Given the description of an element on the screen output the (x, y) to click on. 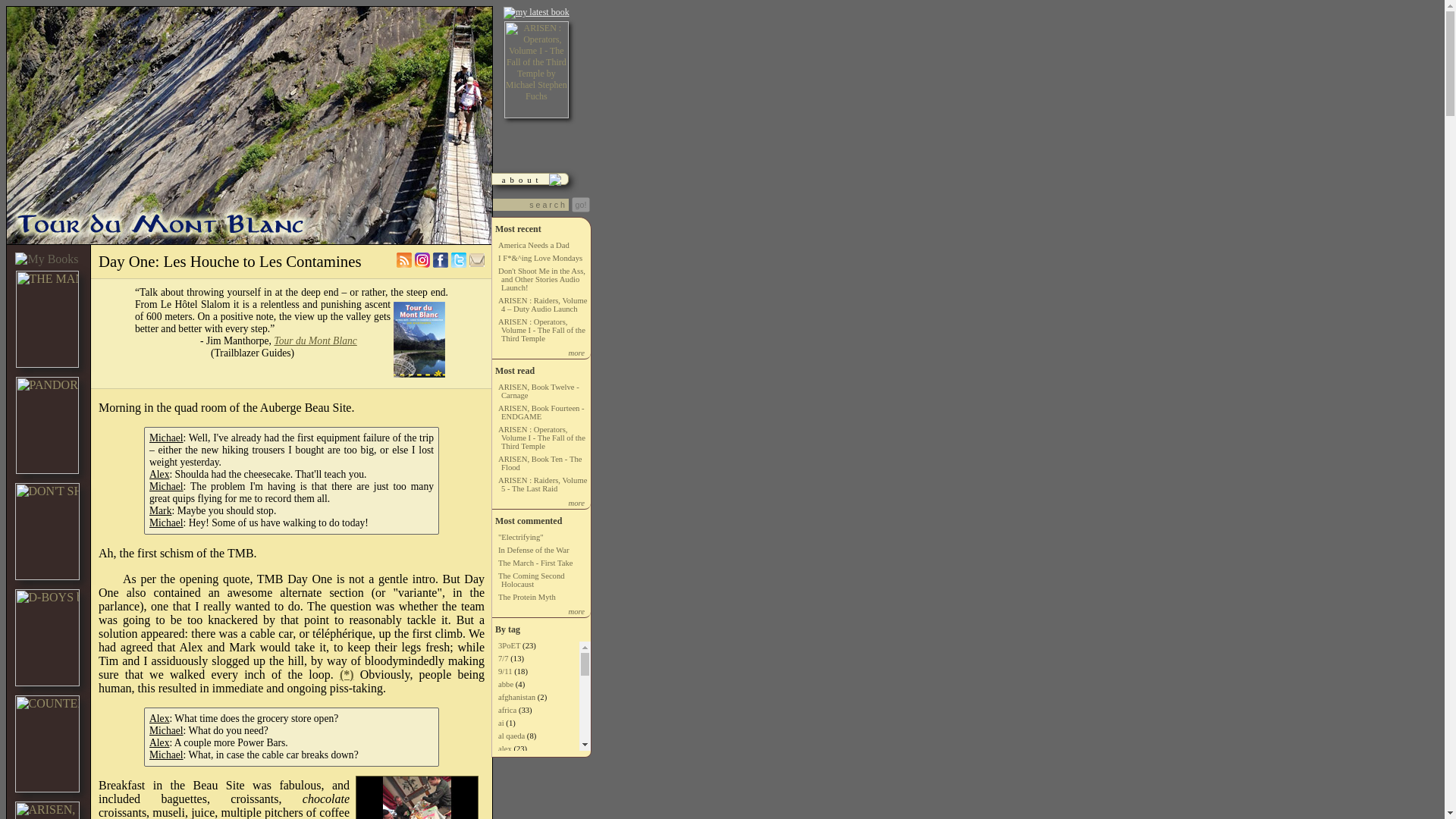
go! (580, 204)
 s e a r c h  (531, 204)
